Given the description of an element on the screen output the (x, y) to click on. 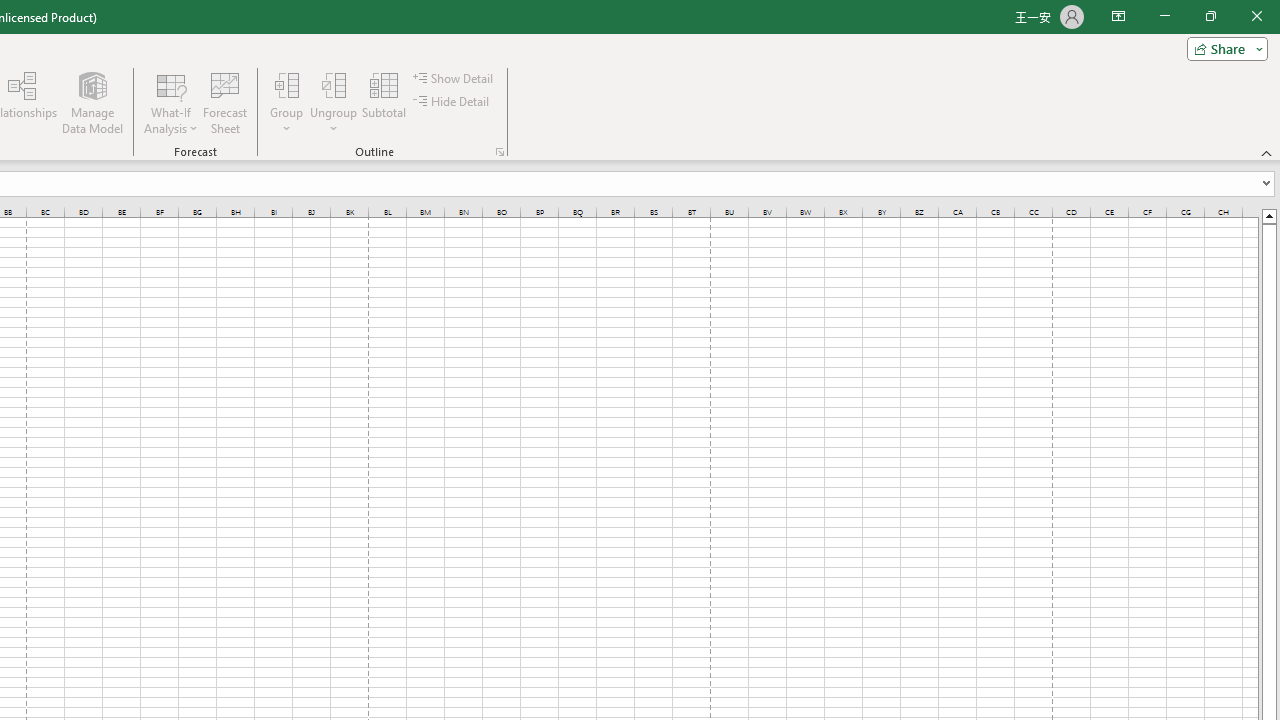
Forecast Sheet (224, 102)
Manage Data Model (92, 102)
